Given the description of an element on the screen output the (x, y) to click on. 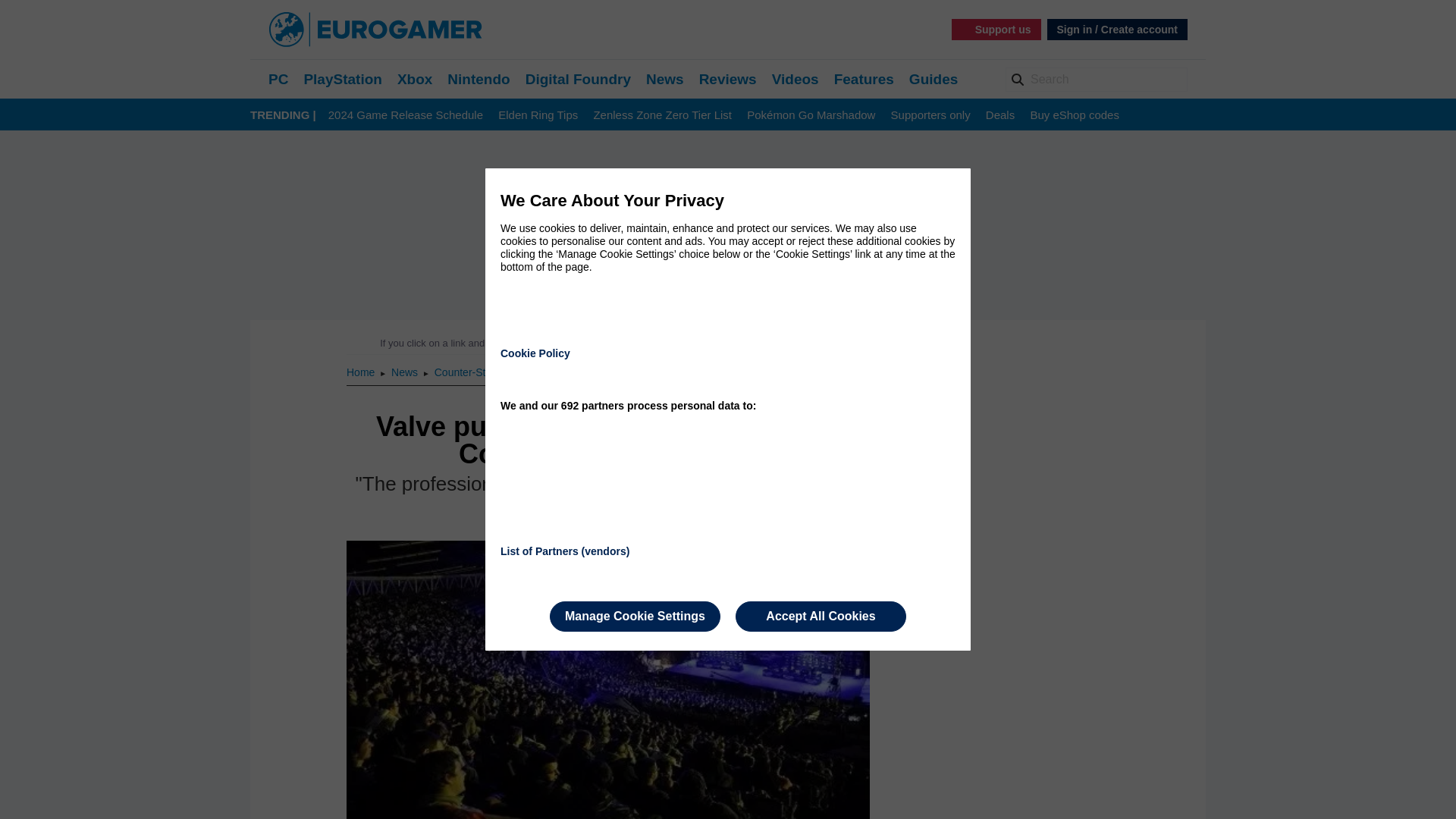
Guides (933, 78)
Support us (996, 29)
Nintendo (477, 78)
Deals (999, 114)
PC (277, 78)
Elden Ring Tips (537, 114)
Buy eShop codes (1074, 114)
PC (277, 78)
Home (361, 372)
2024 Game Release Schedule (406, 114)
News (665, 78)
Read our editorial policy (781, 342)
Reviews (727, 78)
Digital Foundry (577, 78)
Supporters only (931, 114)
